Given the description of an element on the screen output the (x, y) to click on. 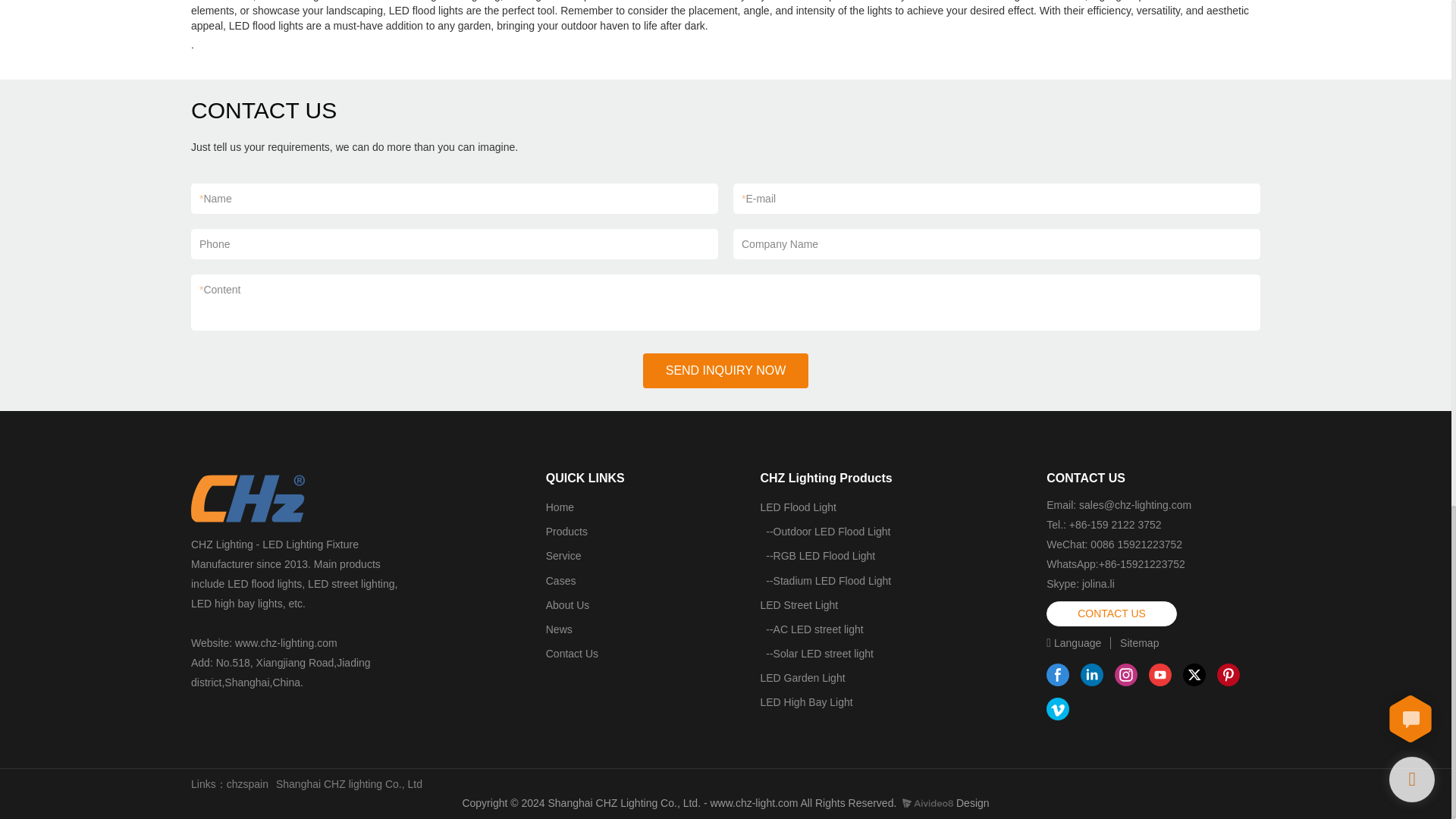
SEND INQUIRY NOW (726, 370)
